Given the description of an element on the screen output the (x, y) to click on. 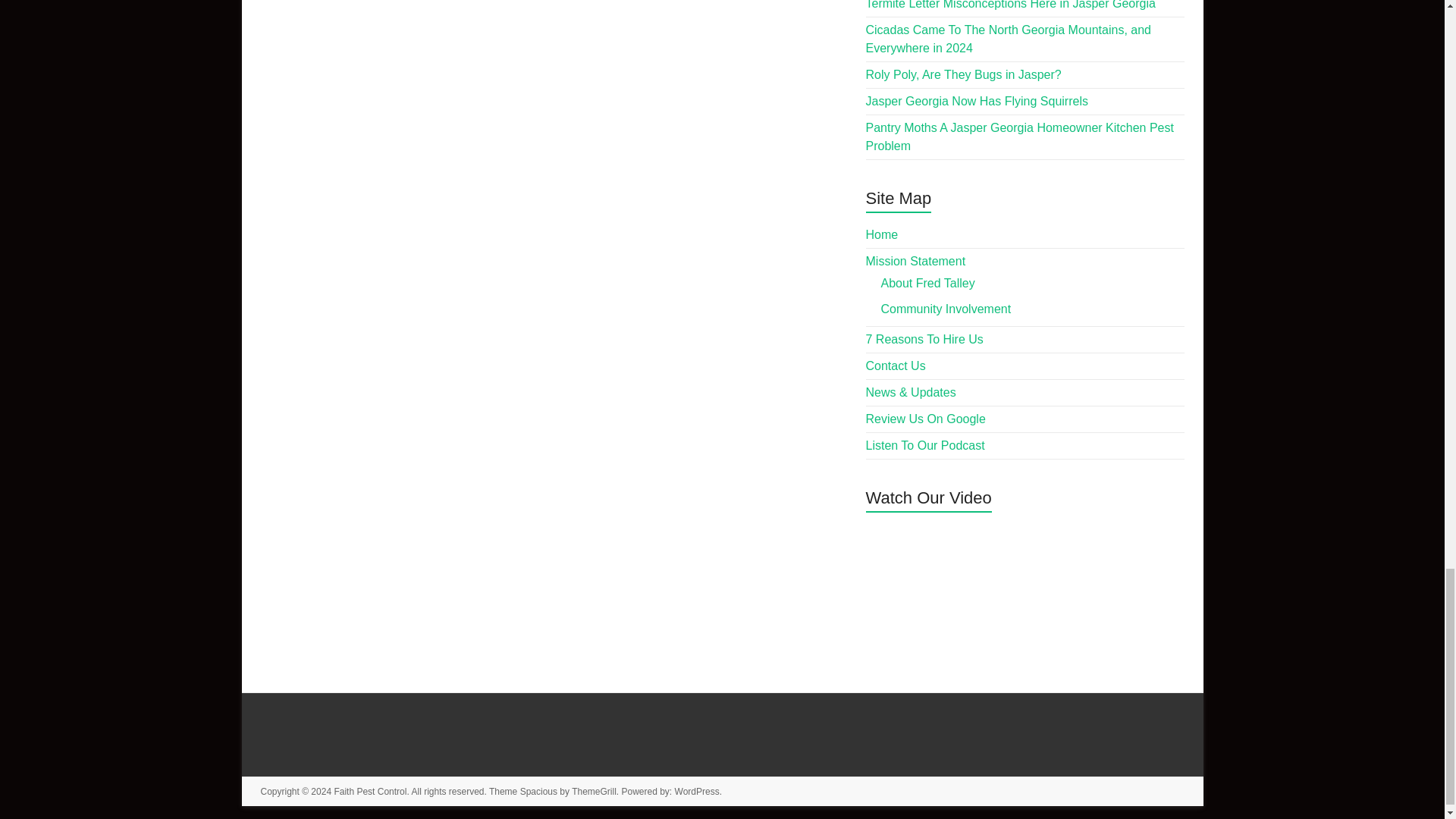
Termite Letter Misconceptions Here in Jasper Georgia (1011, 4)
Jasper Georgia Now Has Flying Squirrels (976, 101)
Roly Poly, Are They Bugs in Jasper? (963, 74)
Faith Pest Control (369, 791)
Spacious (538, 791)
Pantry Moths A Jasper Georgia Homeowner Kitchen Pest Problem (1019, 136)
WordPress (697, 791)
